Given the description of an element on the screen output the (x, y) to click on. 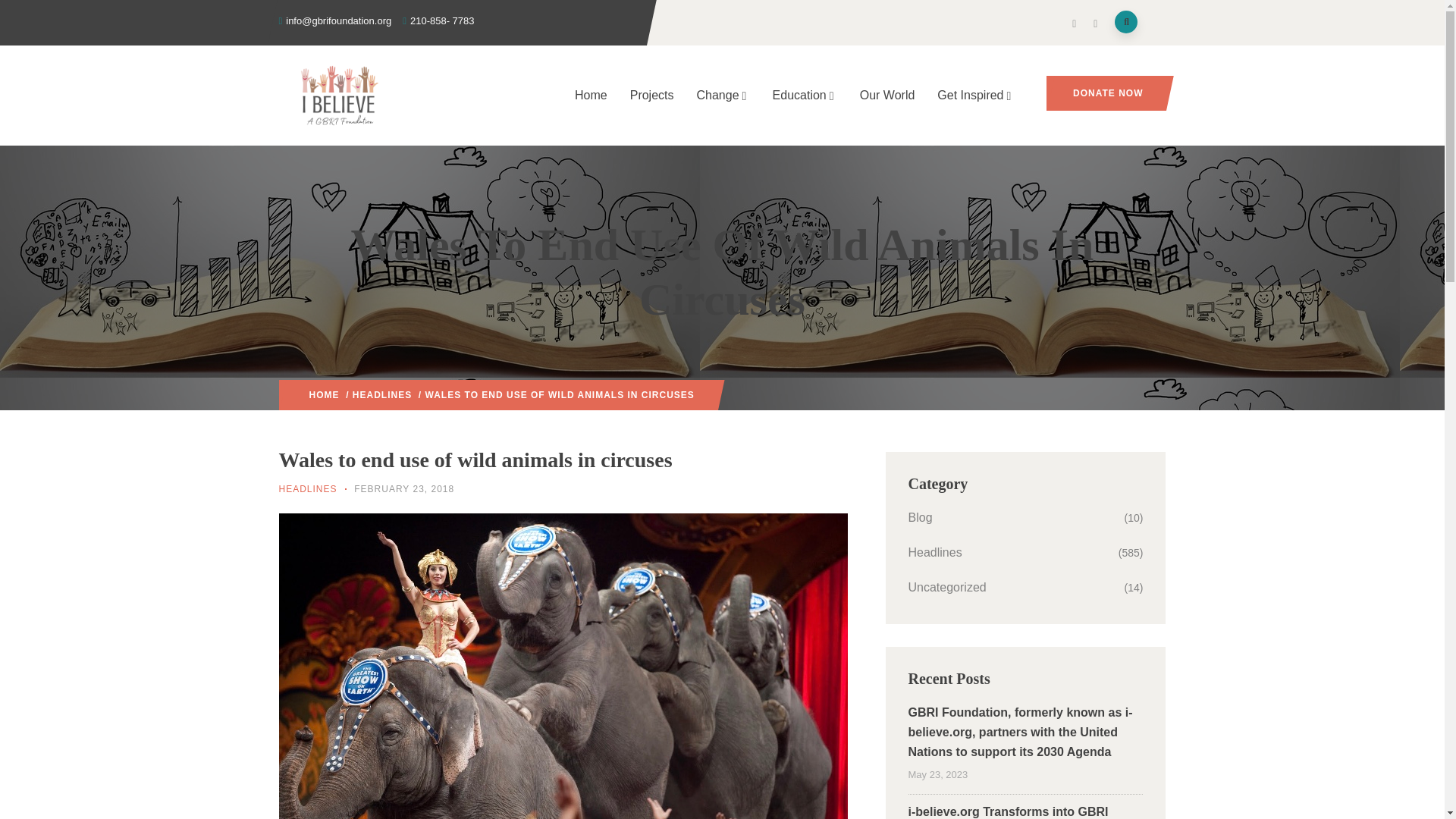
HOME (323, 394)
Education (804, 95)
Projects (651, 95)
DONATE NOW (1106, 93)
Change (723, 95)
Home (590, 95)
Get Inspired (975, 95)
Our World (887, 95)
HEADLINES (382, 394)
FEBRUARY 23, 2018 (403, 489)
HEADLINES (308, 489)
